Given the description of an element on the screen output the (x, y) to click on. 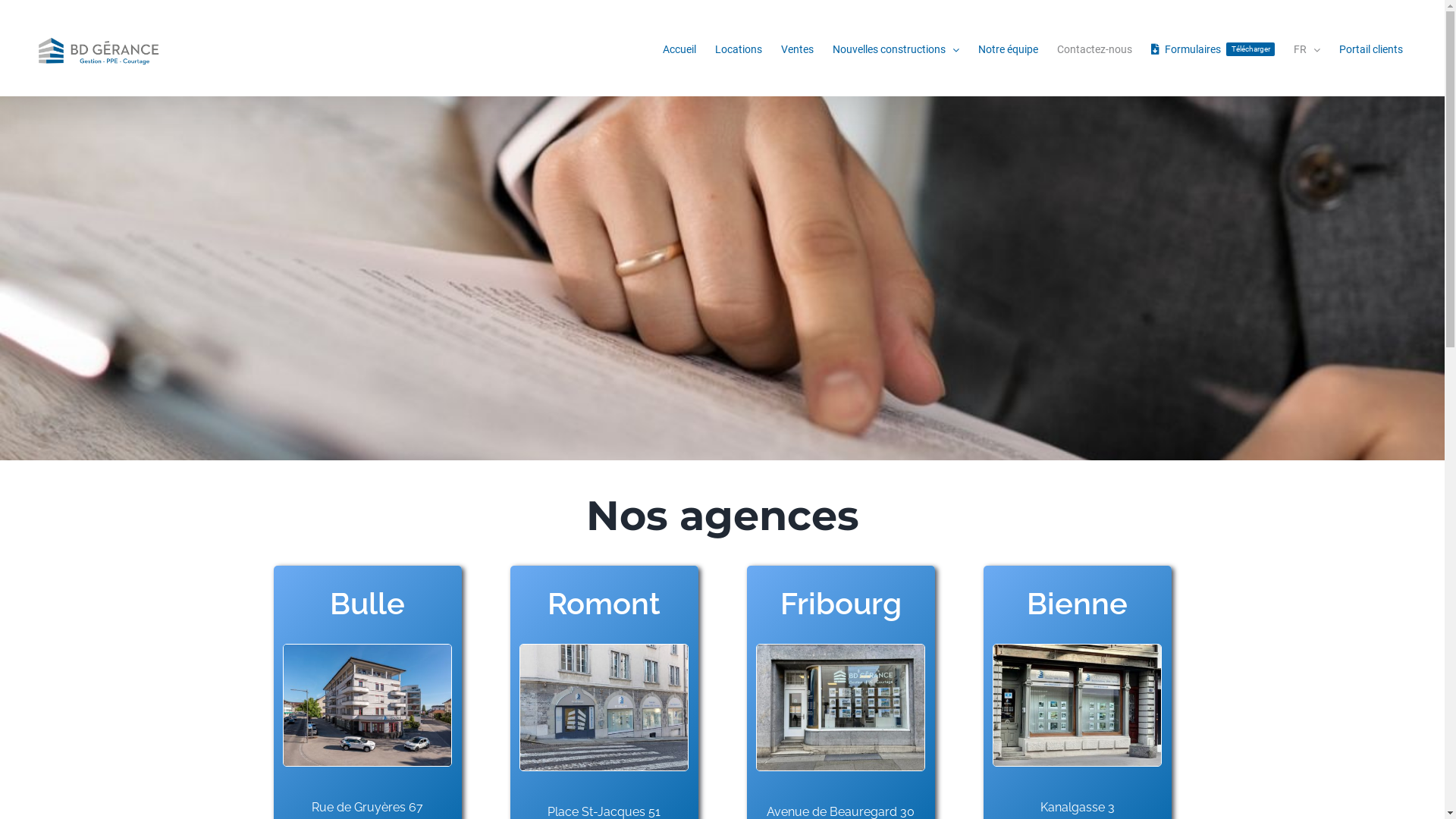
Photo_agence_Fribourg Element type: hover (839, 706)
Ventes Element type: text (797, 48)
Accueil Element type: text (679, 48)
Portail clients Element type: text (1370, 48)
Photo_agence_Bulle Element type: hover (366, 704)
agence_bienne Element type: hover (1076, 704)
Photo_agence_Romont Element type: hover (603, 706)
FR Element type: text (1306, 48)
Contactez-nous Element type: text (1094, 48)
Locations Element type: text (738, 48)
Nouvelles constructions Element type: text (895, 48)
